Given the description of an element on the screen output the (x, y) to click on. 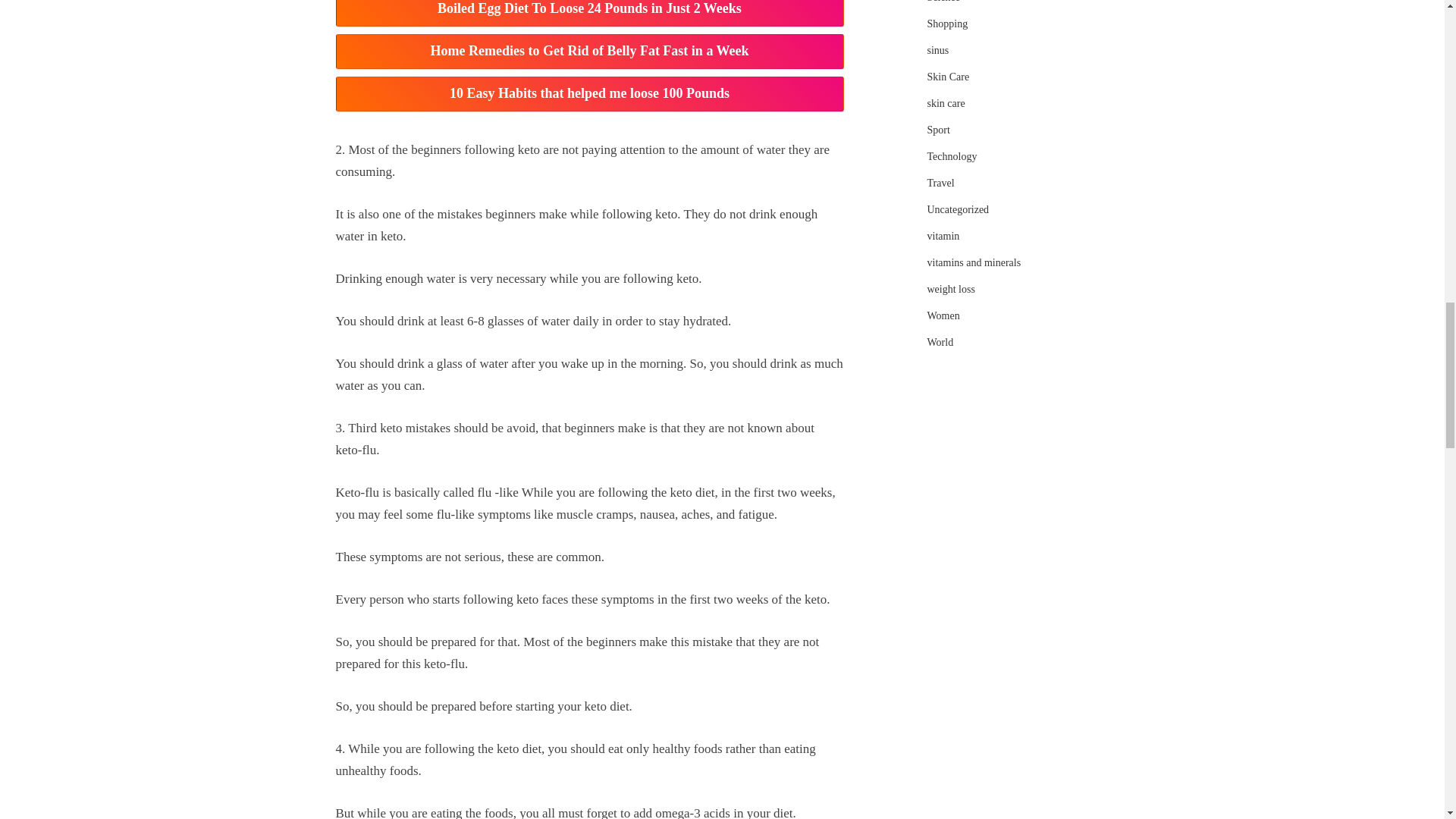
Home Remedies to Get Rid of Belly Fat Fast in a Week (588, 51)
10 Easy Habits that helped me loose 100 Pounds (588, 93)
Boiled Egg Diet To Loose 24 Pounds in Just 2 Weeks (588, 13)
